Given the description of an element on the screen output the (x, y) to click on. 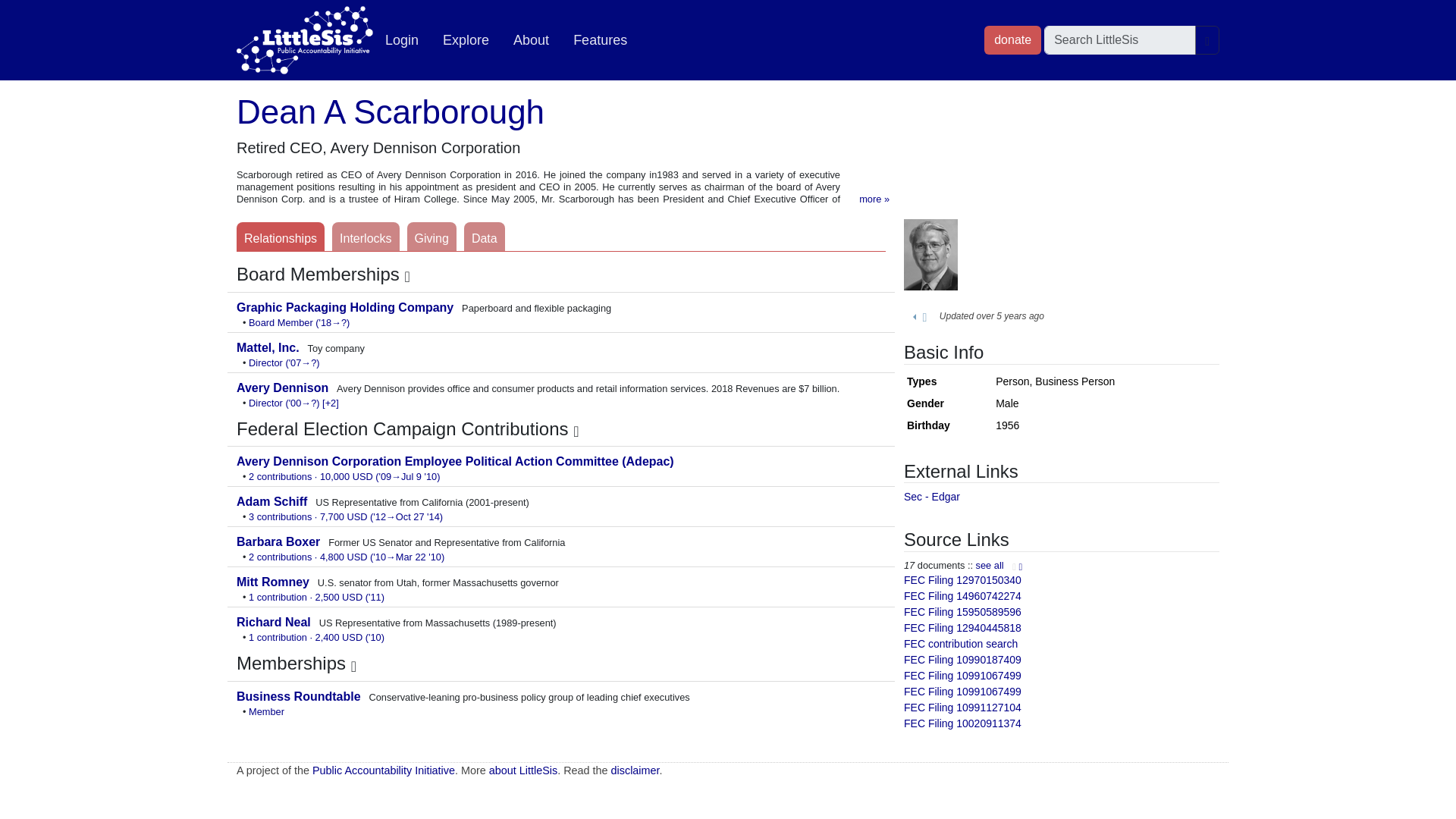
Former US Senator and Representative from California (279, 541)
Explore (465, 40)
U.S. senator from Utah, former Massachusetts governor (274, 581)
Login (401, 40)
Paperboard and flexible packaging (346, 307)
About (530, 40)
donate (1012, 39)
Features (599, 40)
Toy company (268, 347)
